Given the description of an element on the screen output the (x, y) to click on. 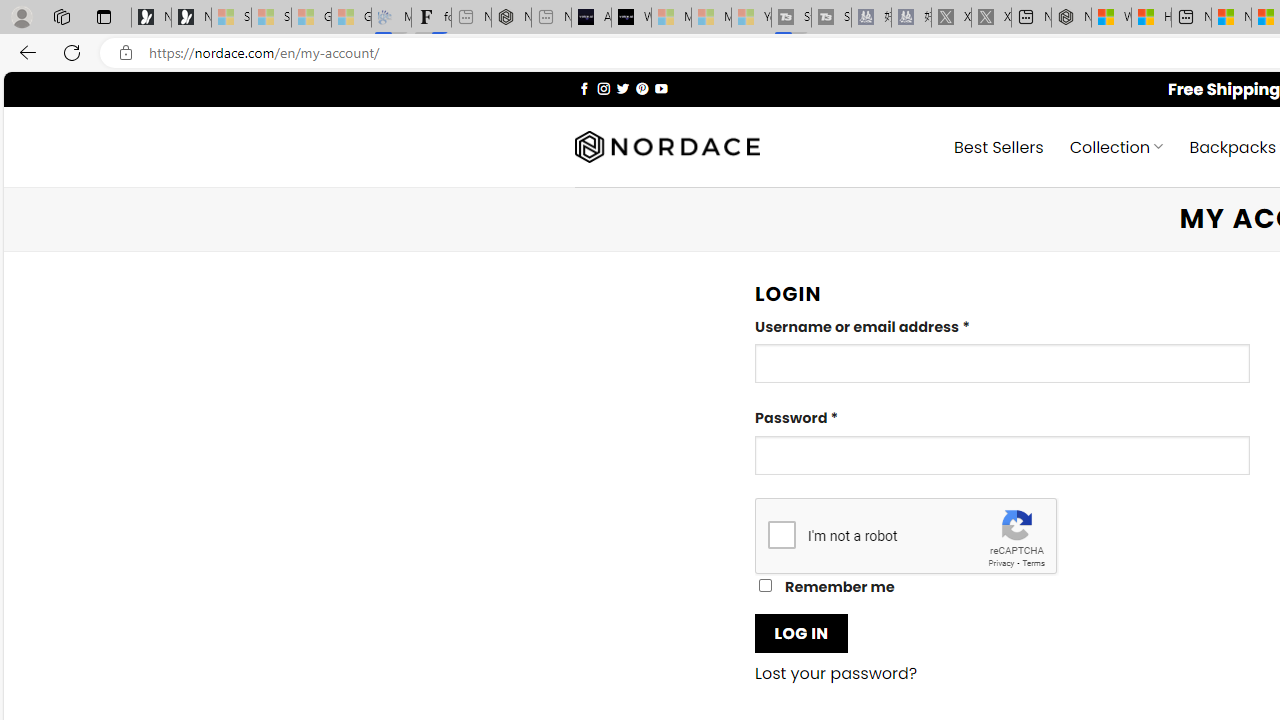
Personal Profile (21, 16)
Tab actions menu (104, 16)
New tab (1191, 17)
Remember me (765, 585)
Nordace (667, 147)
Newsletter Sign Up (191, 17)
Workspaces (61, 16)
Terms (1033, 562)
Huge shark washes ashore at New York City beach | Watch (1151, 17)
What's the best AI voice generator? - voice.ai (631, 17)
